Given the description of an element on the screen output the (x, y) to click on. 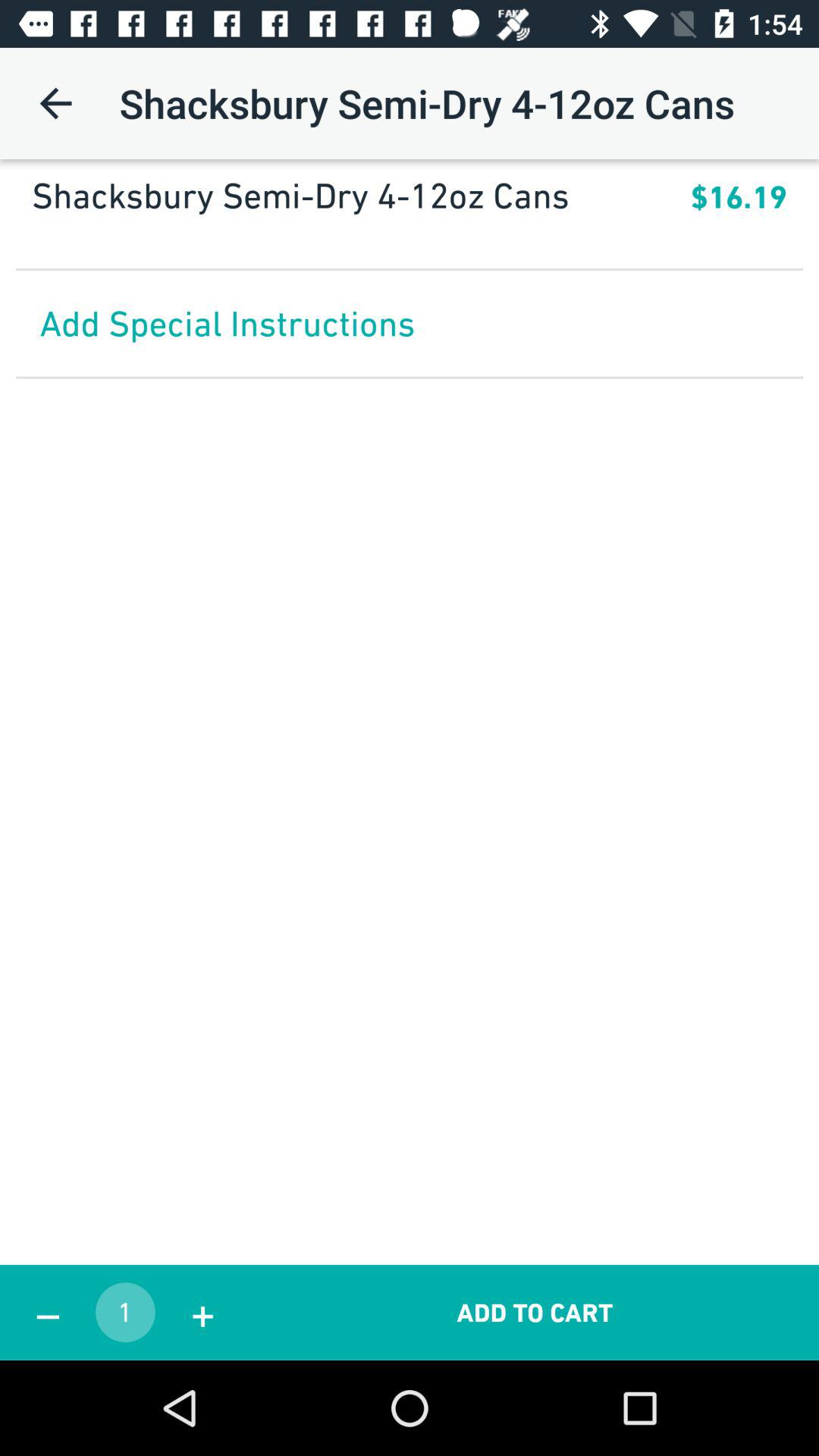
open icon below the shacksbury semi dry item (409, 234)
